Given the description of an element on the screen output the (x, y) to click on. 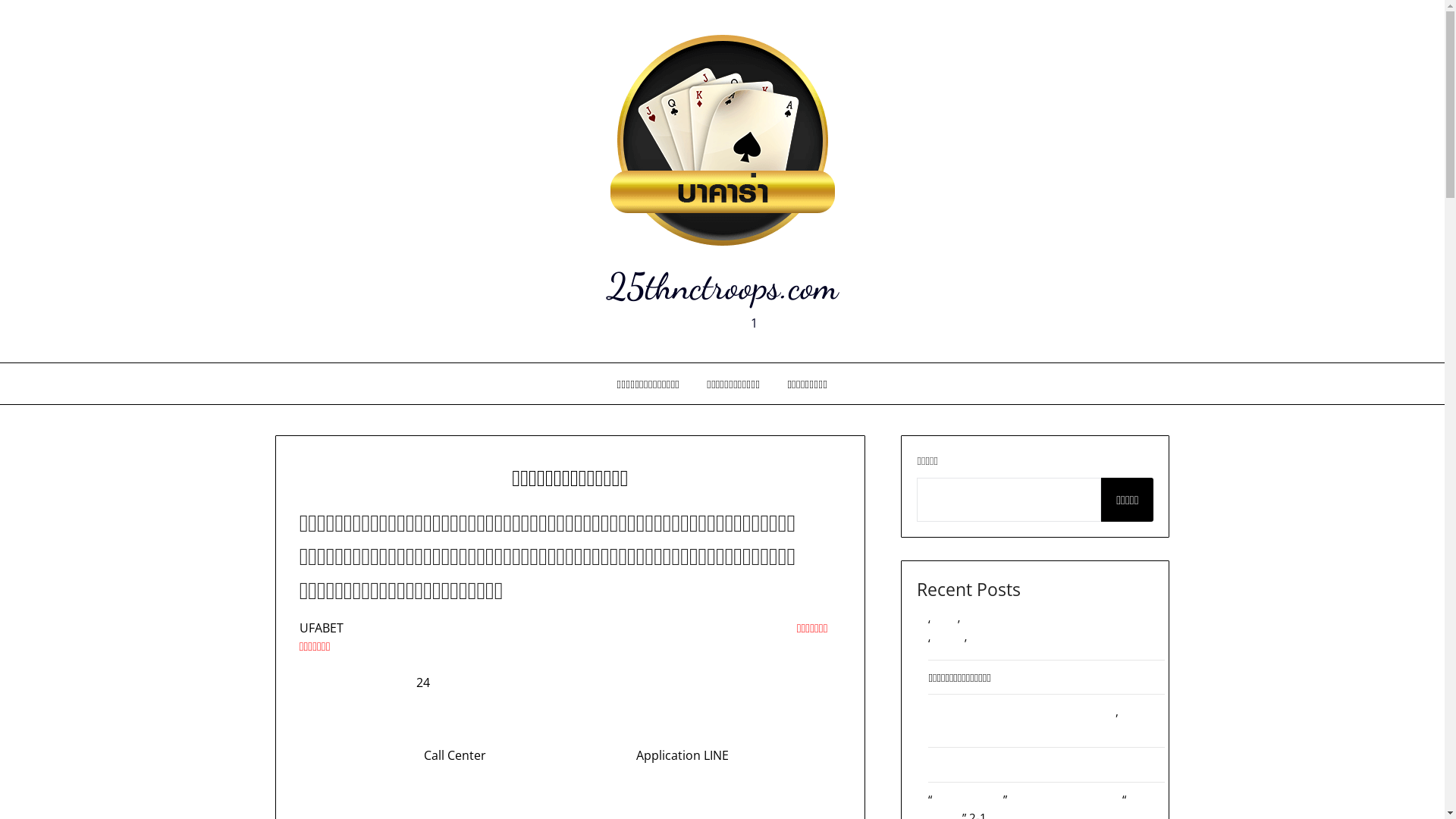
25thnctroops.com Element type: text (721, 285)
